Given the description of an element on the screen output the (x, y) to click on. 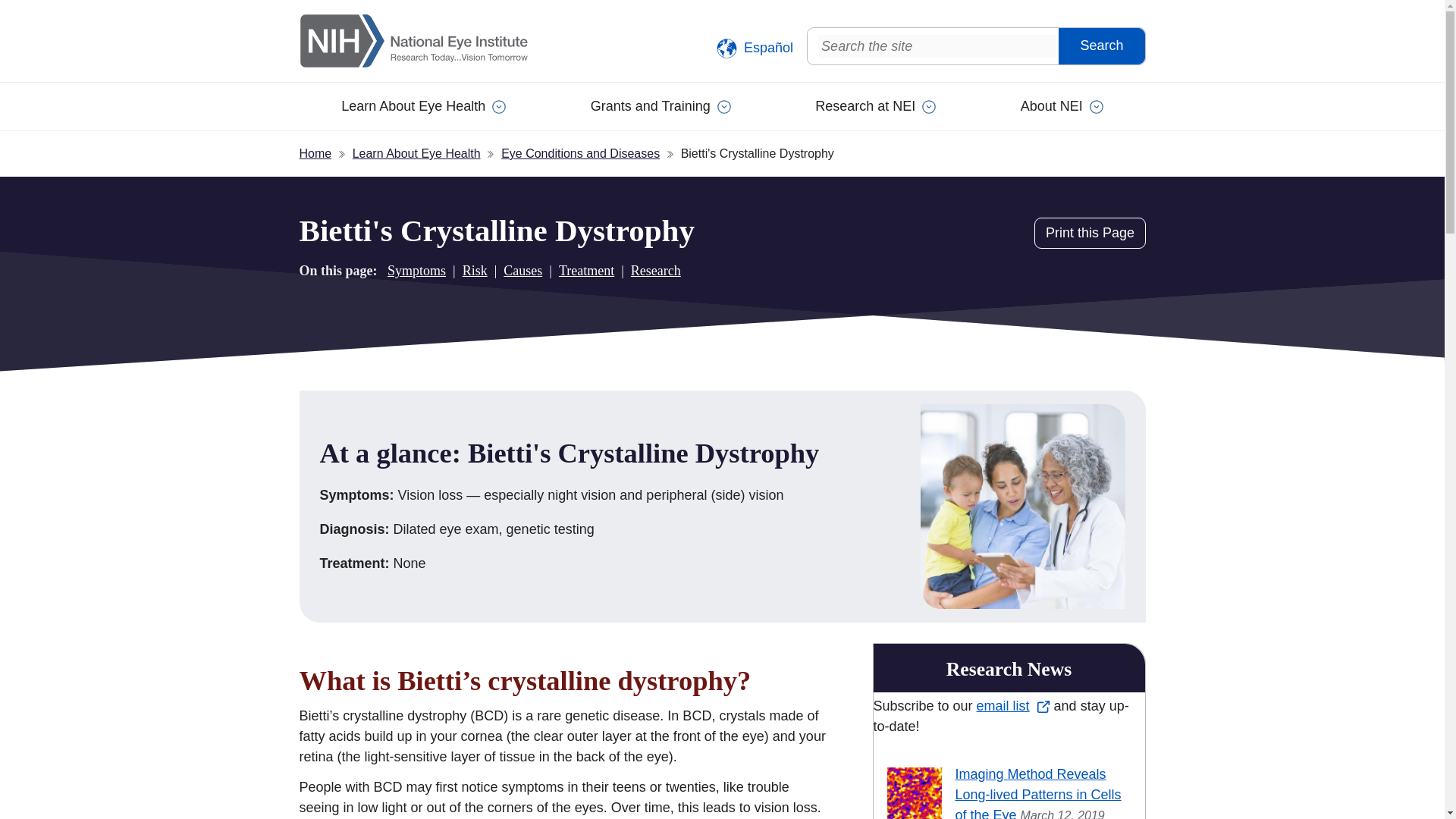
Search (1101, 45)
Home (435, 40)
About NEI (1061, 106)
Grants and Training (660, 106)
Search (1101, 45)
Learn About Eye Health (423, 106)
Research at NEI (875, 106)
